Given the description of an element on the screen output the (x, y) to click on. 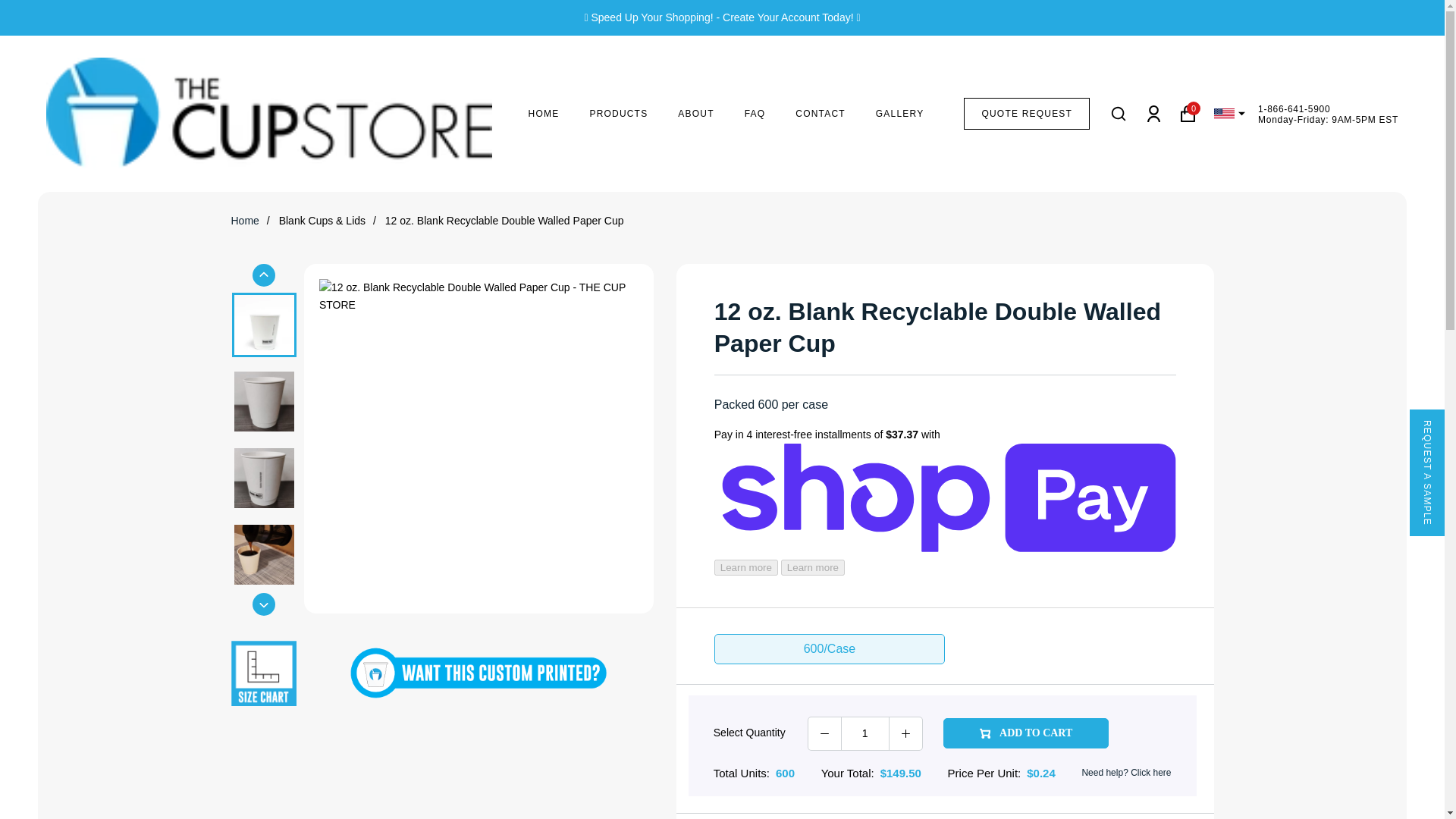
1 (864, 733)
